Given the description of an element on the screen output the (x, y) to click on. 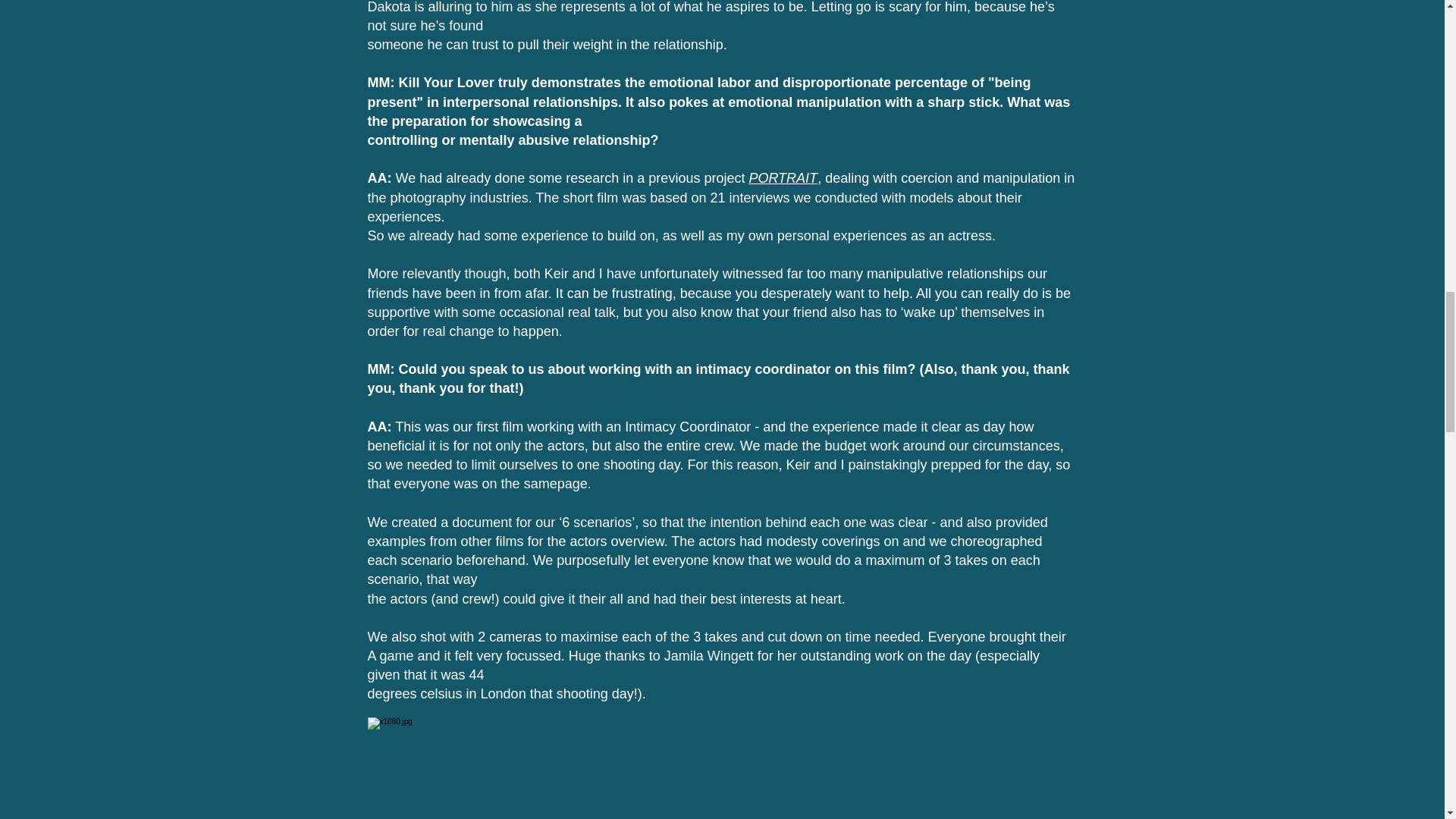
PORTRAIT (782, 177)
